Given the description of an element on the screen output the (x, y) to click on. 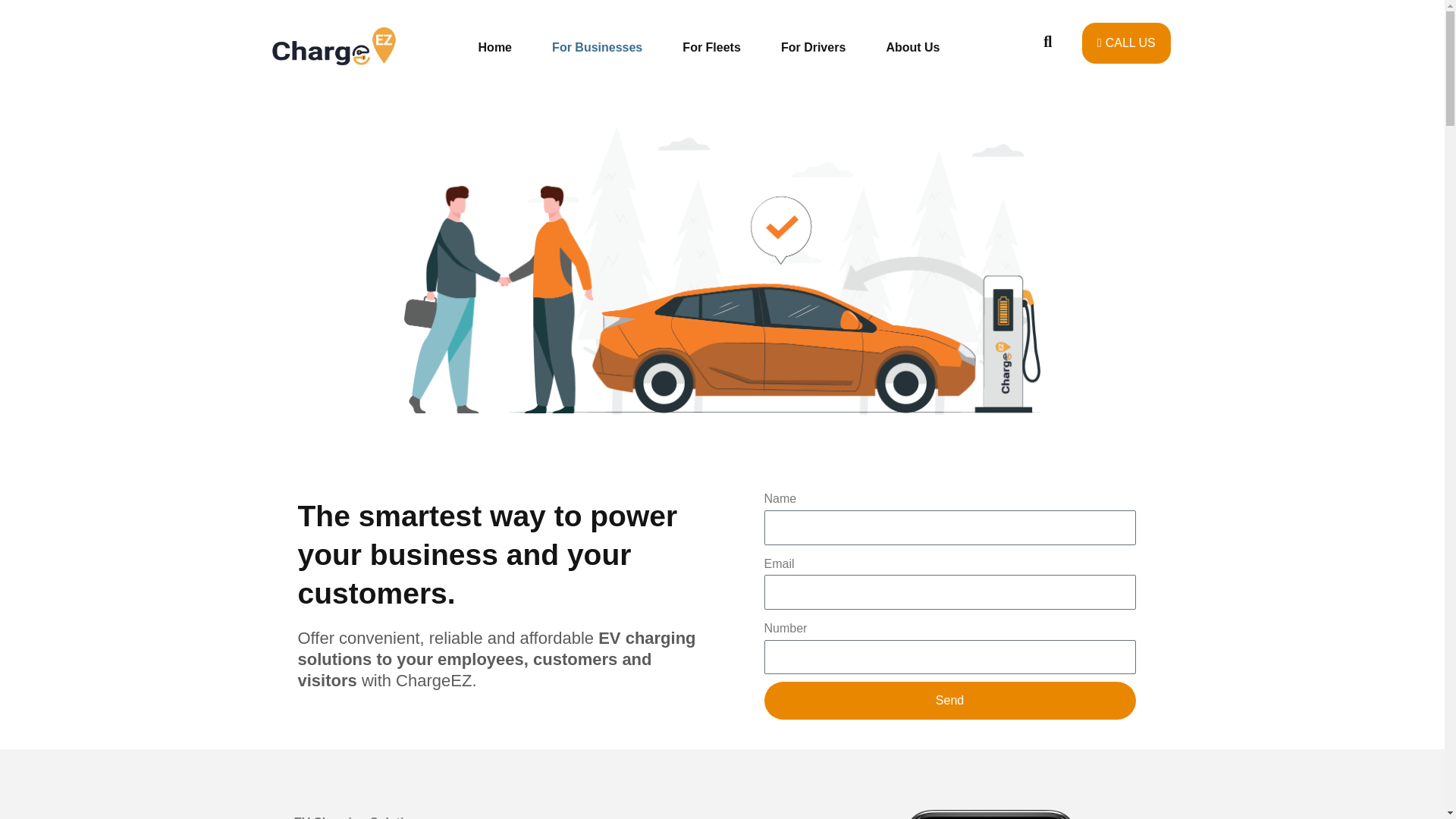
For Fleets (711, 47)
CALL US (1125, 42)
For Businesses (597, 47)
Home (495, 47)
Send (949, 700)
About Us (912, 47)
For Drivers (812, 47)
